Given the description of an element on the screen output the (x, y) to click on. 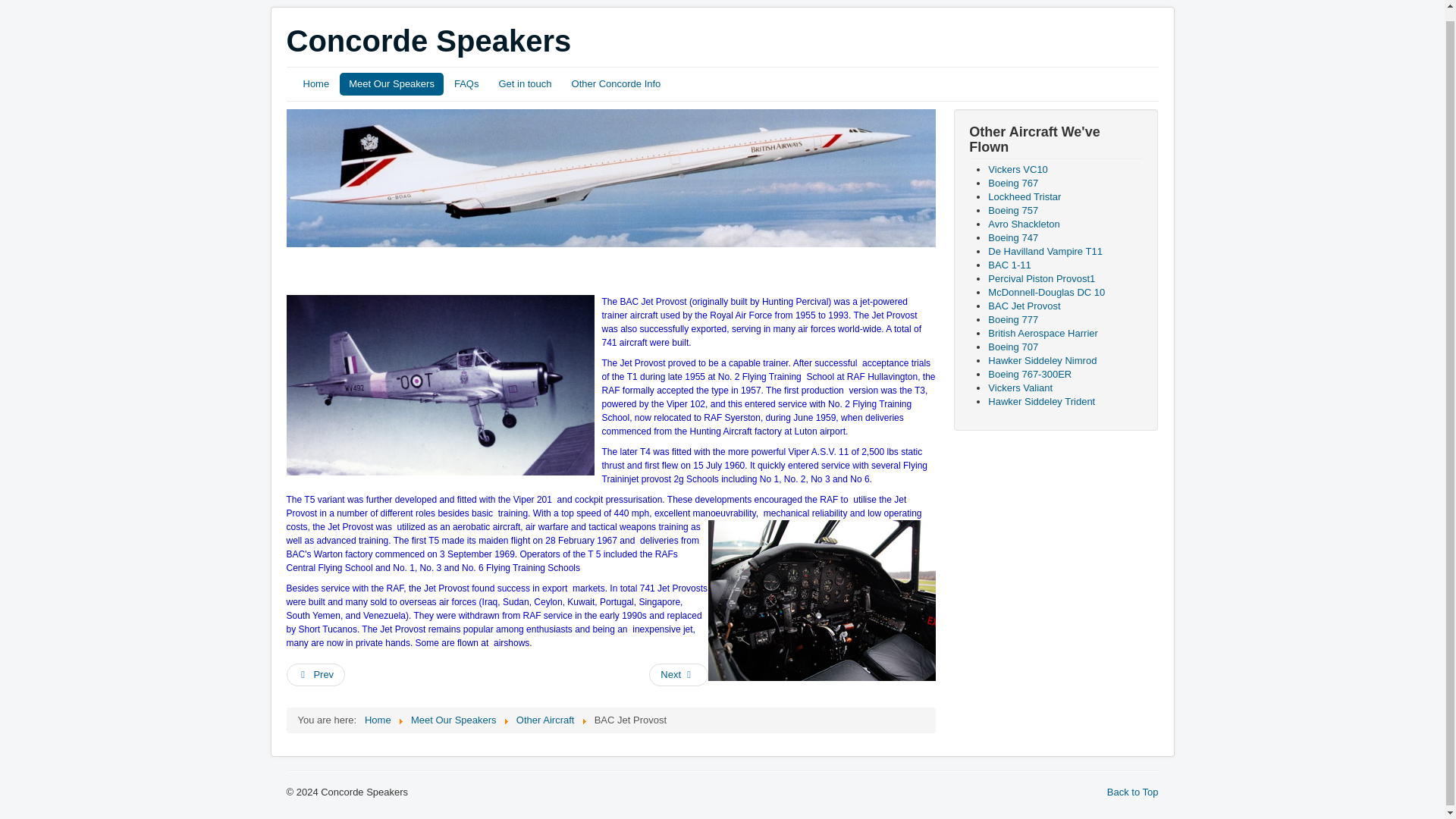
BAC Jet Provost (1023, 306)
Prev (316, 674)
Back to Top (1132, 791)
FAQs (466, 83)
McDonnell-Douglas DC 10 (1046, 292)
Other Aircraft (545, 719)
Percival Piston Provost1 (1041, 278)
Boeing 757 (1013, 210)
Meet Our Speakers (453, 719)
BAC 1-11 (1009, 265)
